Given the description of an element on the screen output the (x, y) to click on. 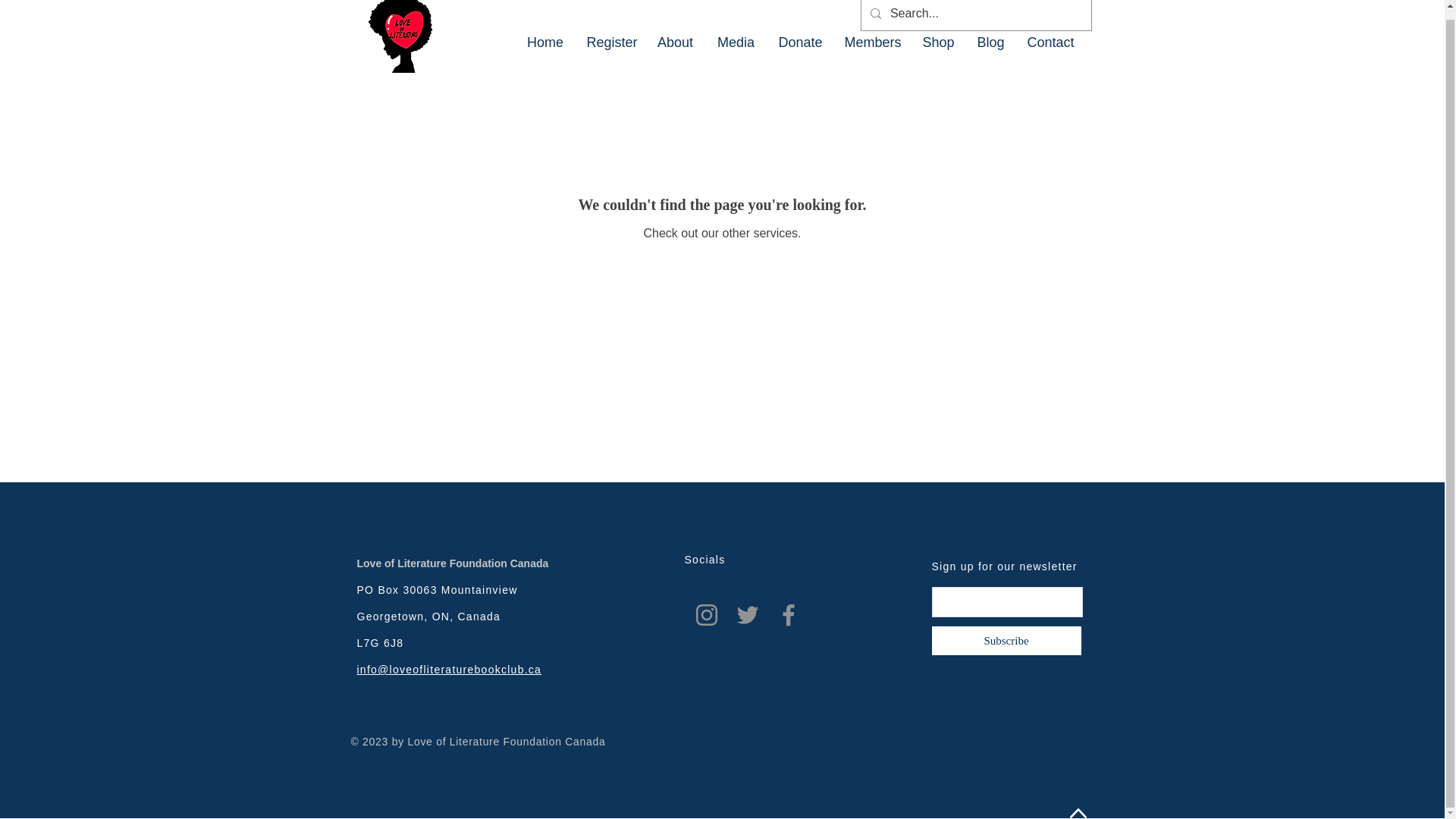
logo full colour.jpg (398, 36)
Shop (938, 42)
Media (735, 42)
Home (545, 42)
Contact (1051, 42)
Donate (799, 42)
Members (871, 42)
Subscribe (1006, 640)
Register (610, 42)
About (675, 42)
